Given the description of an element on the screen output the (x, y) to click on. 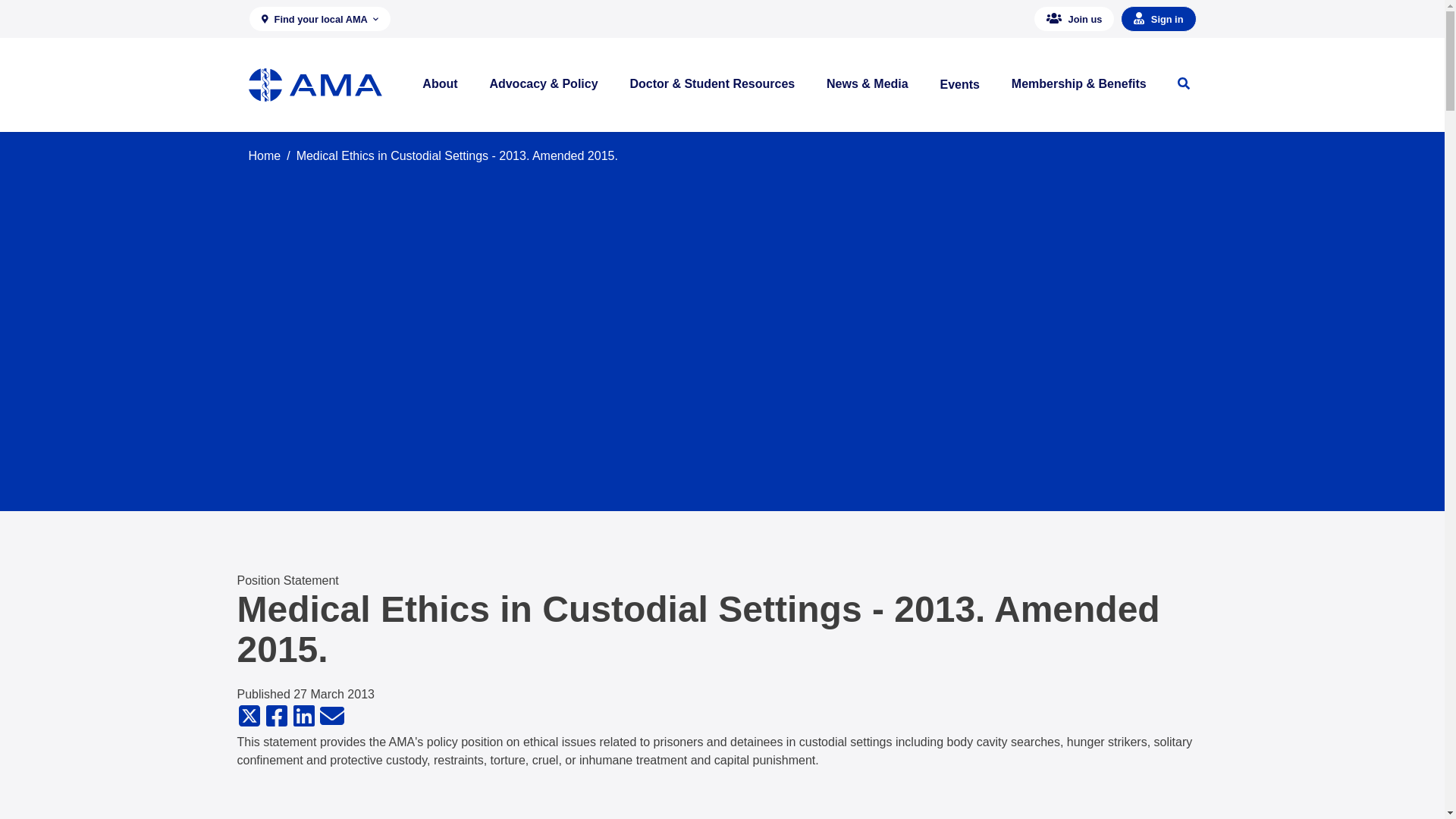
About (439, 84)
Join us (1074, 18)
Events (959, 84)
Sign in (1158, 18)
Find your local AMA (319, 18)
